Given the description of an element on the screen output the (x, y) to click on. 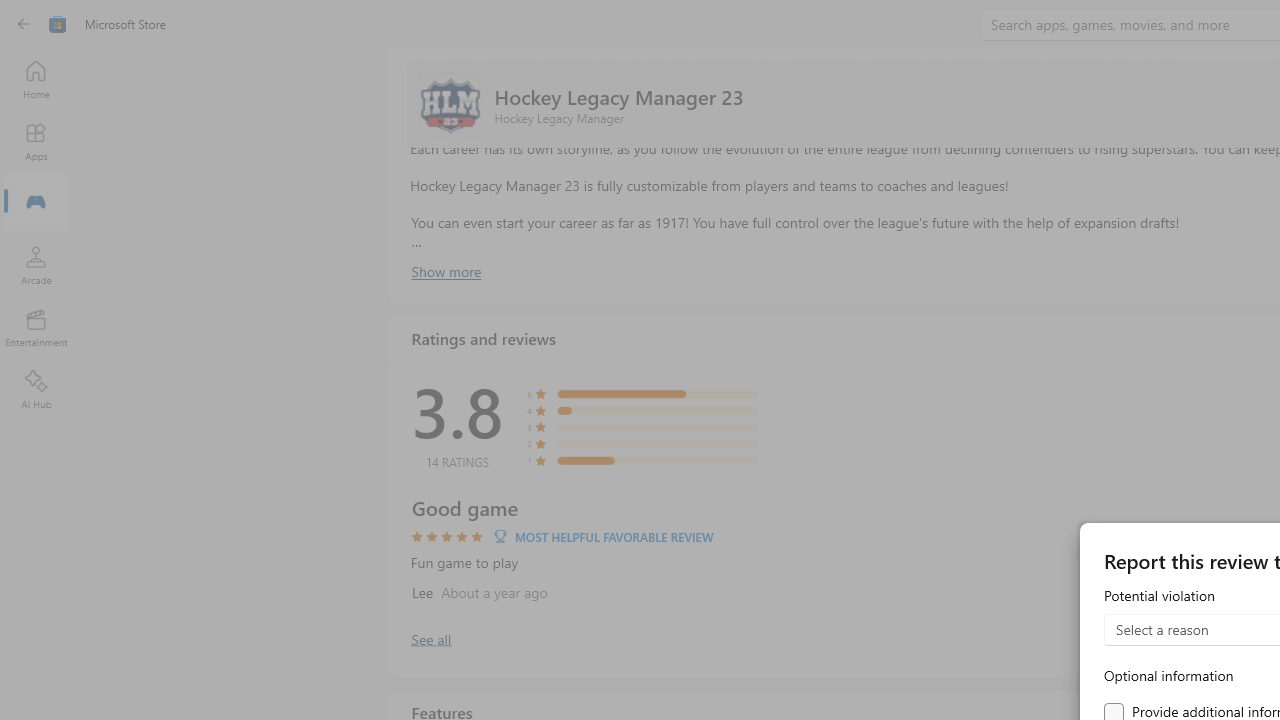
Show all ratings and reviews (430, 637)
Entertainment (35, 327)
Apps (35, 141)
Arcade (35, 265)
AI Hub (35, 390)
Class: Image (58, 24)
Gaming (35, 203)
Home (35, 79)
Back (24, 24)
Show more (445, 271)
